Given the description of an element on the screen output the (x, y) to click on. 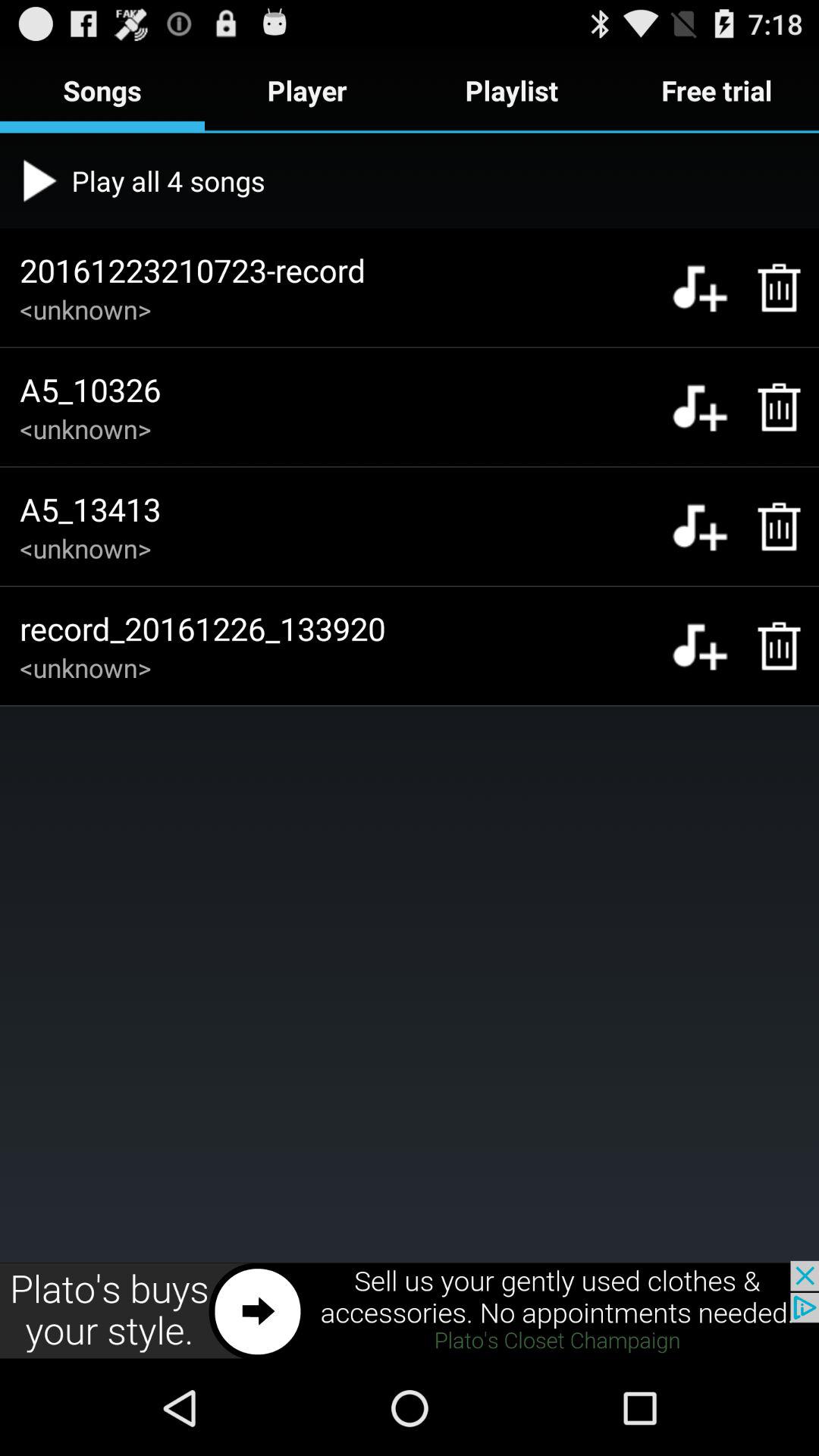
add song key (699, 526)
